Given the description of an element on the screen output the (x, y) to click on. 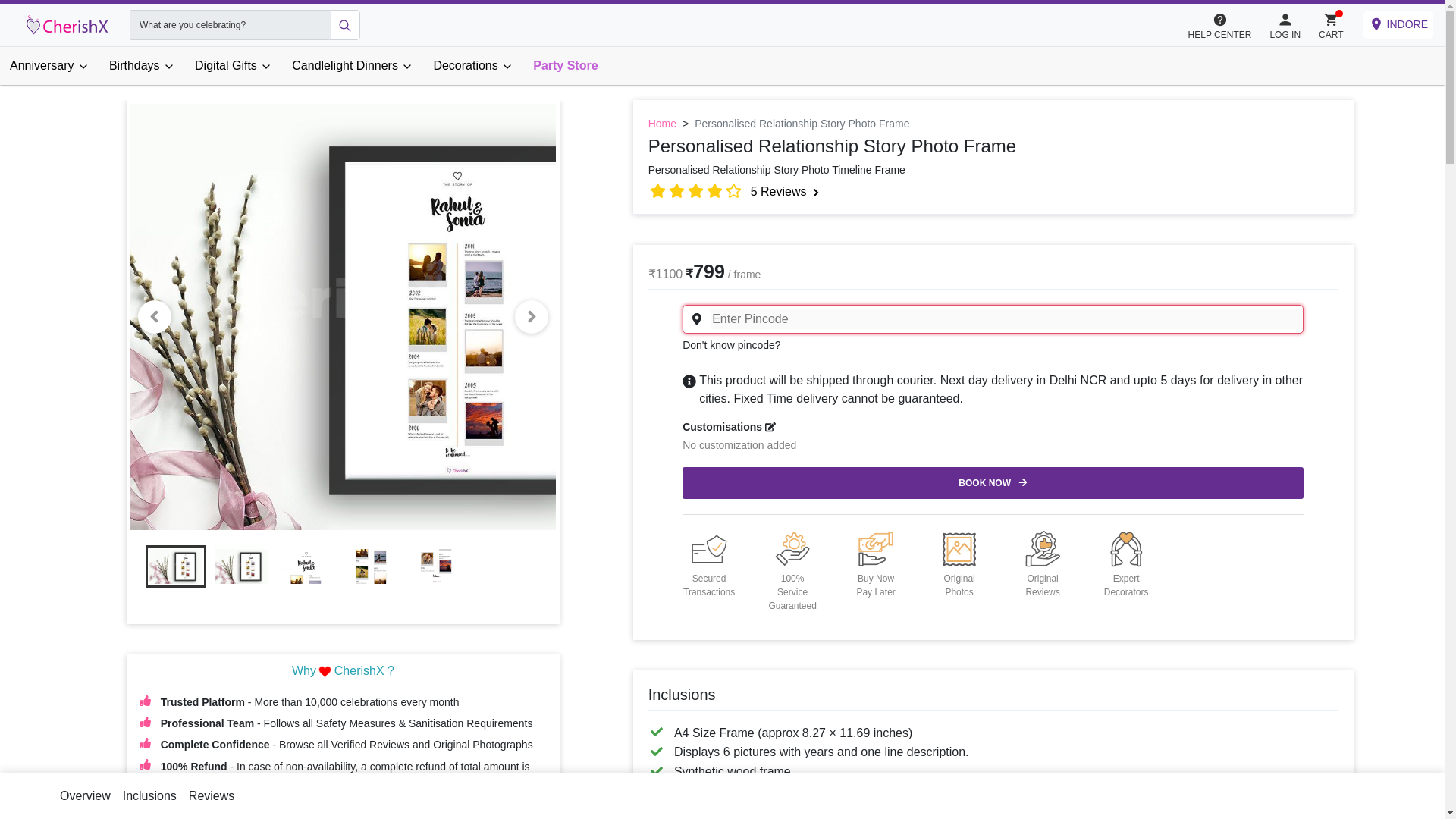
HELP CENTER (1227, 25)
What are you celebrating? (229, 24)
HELP CENTER (1219, 24)
INDORE (1397, 24)
LOG IN (1284, 24)
What are you celebrating? (229, 24)
